Given the description of an element on the screen output the (x, y) to click on. 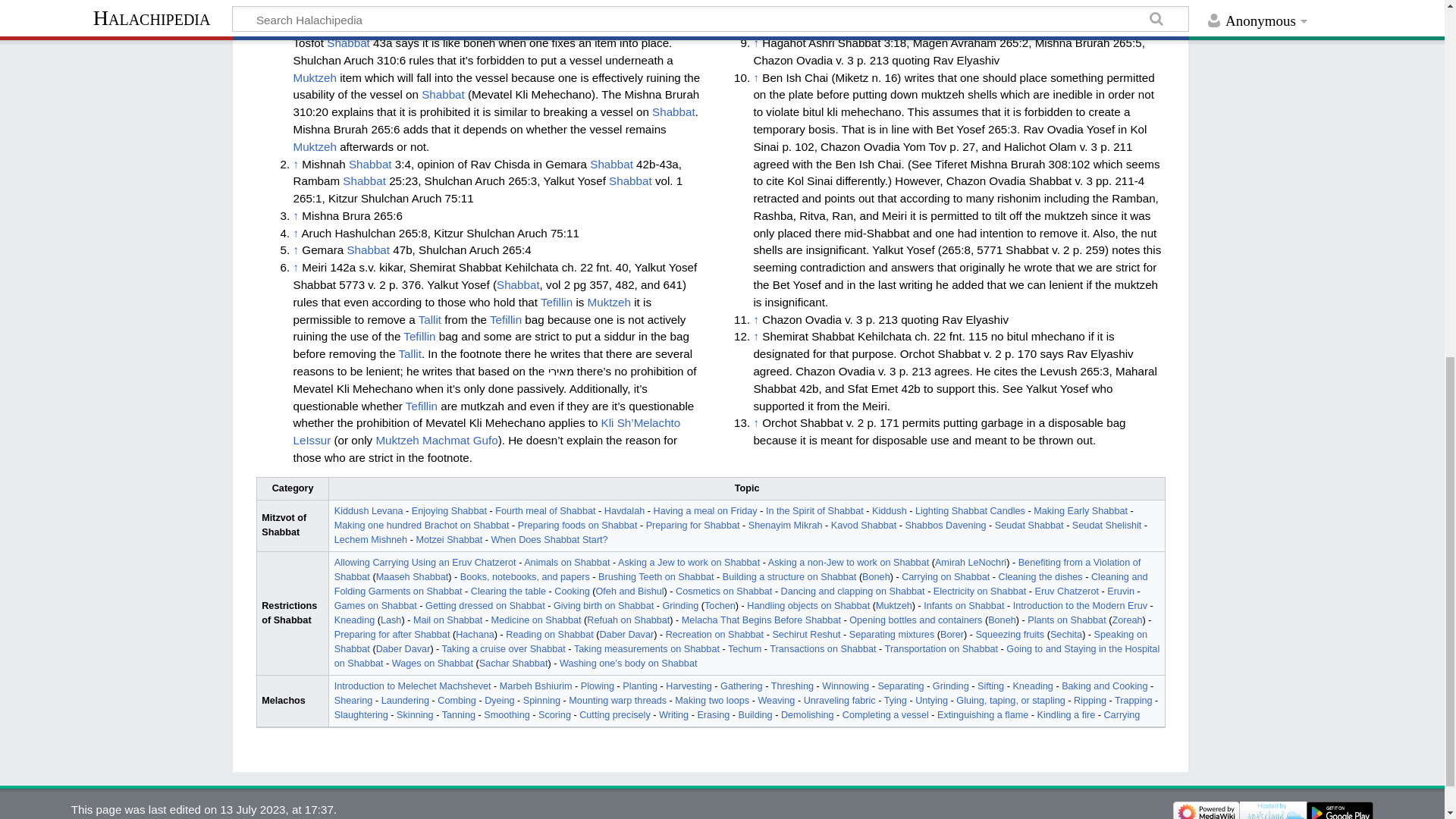
Shabbat (482, 7)
Shabbat (347, 42)
Muktzeh (314, 77)
Shabbat (443, 93)
